Given the description of an element on the screen output the (x, y) to click on. 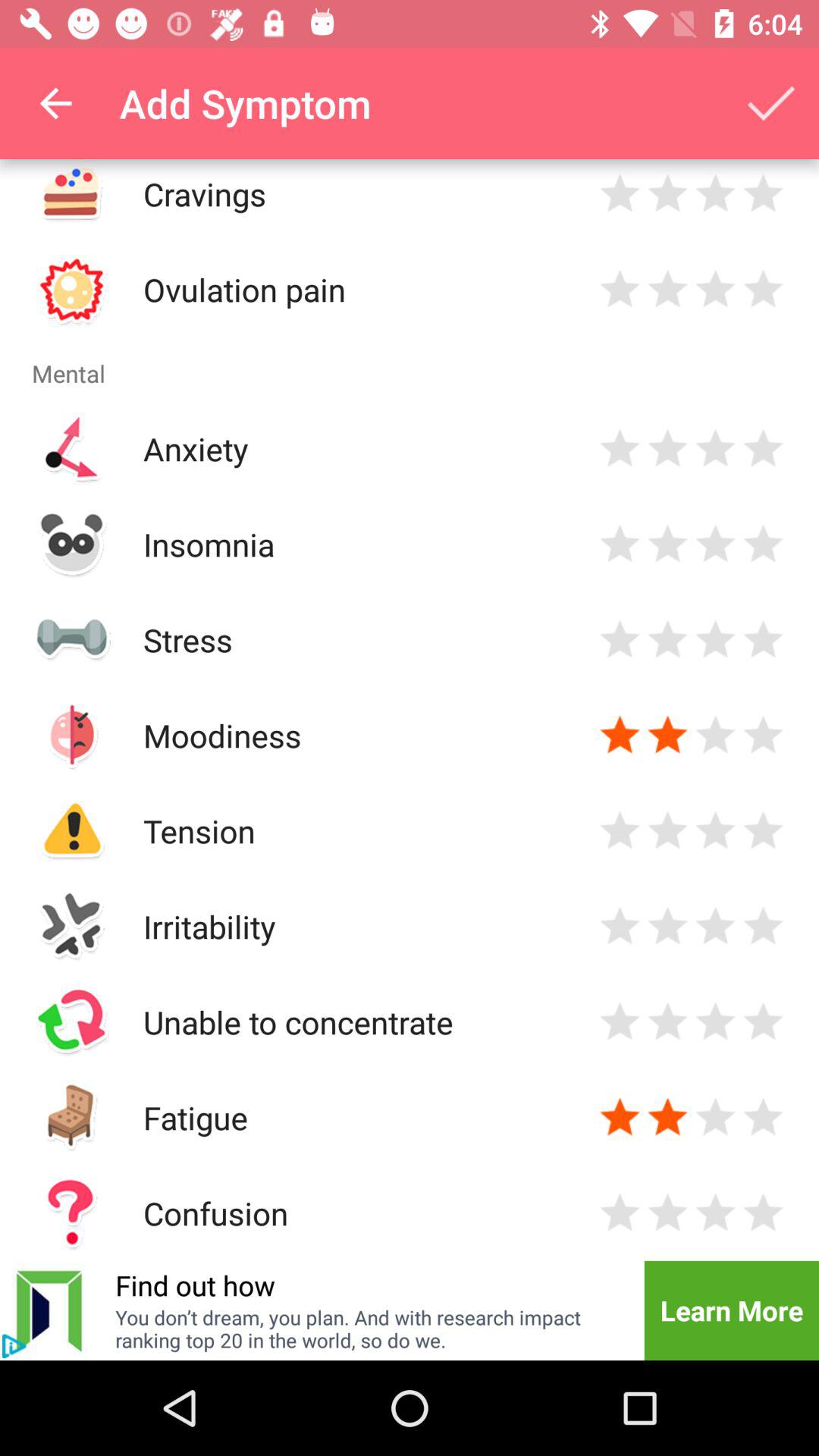
rate 2 stars (667, 448)
